Given the description of an element on the screen output the (x, y) to click on. 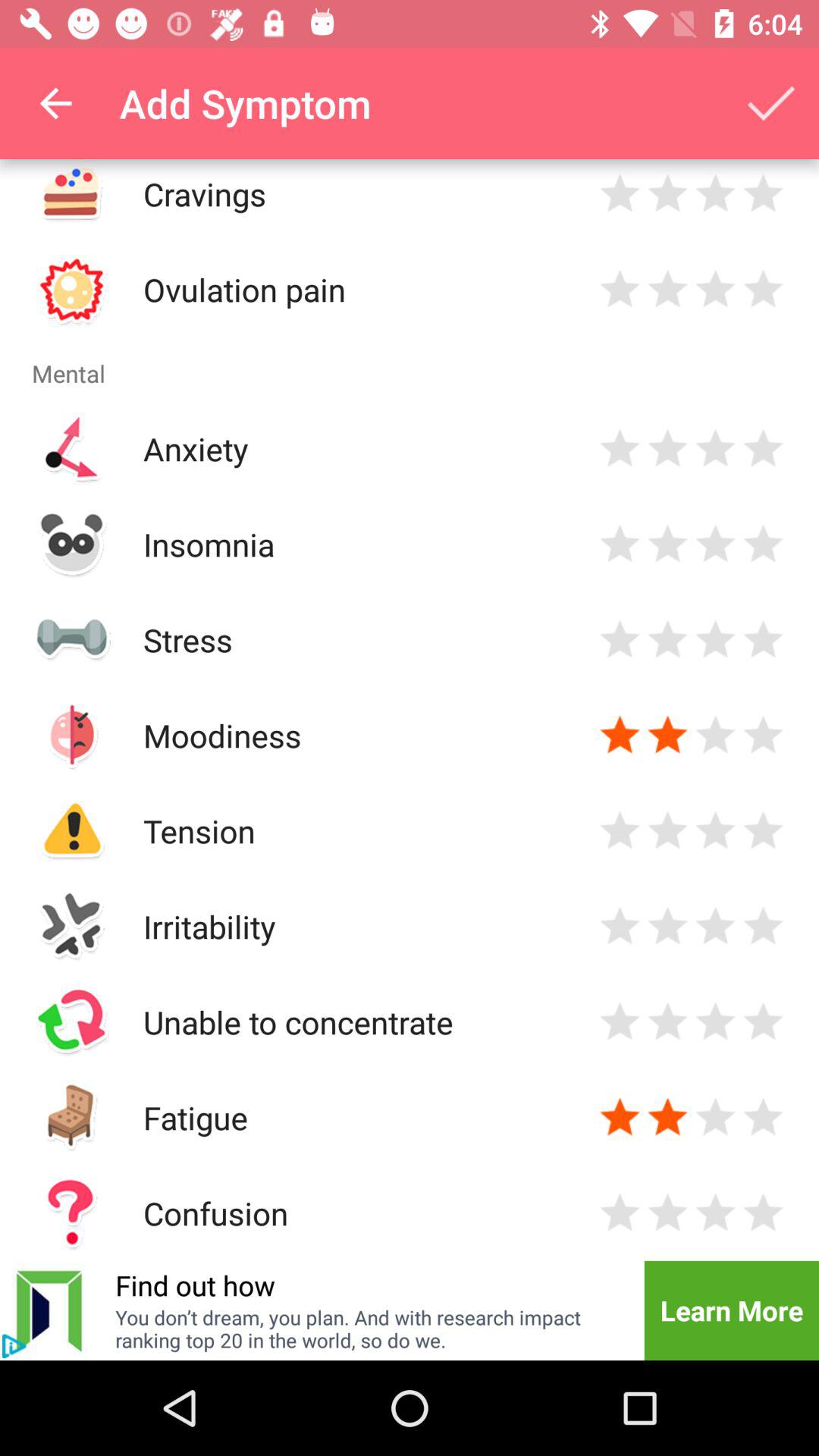
rate 2 stars (667, 448)
